Given the description of an element on the screen output the (x, y) to click on. 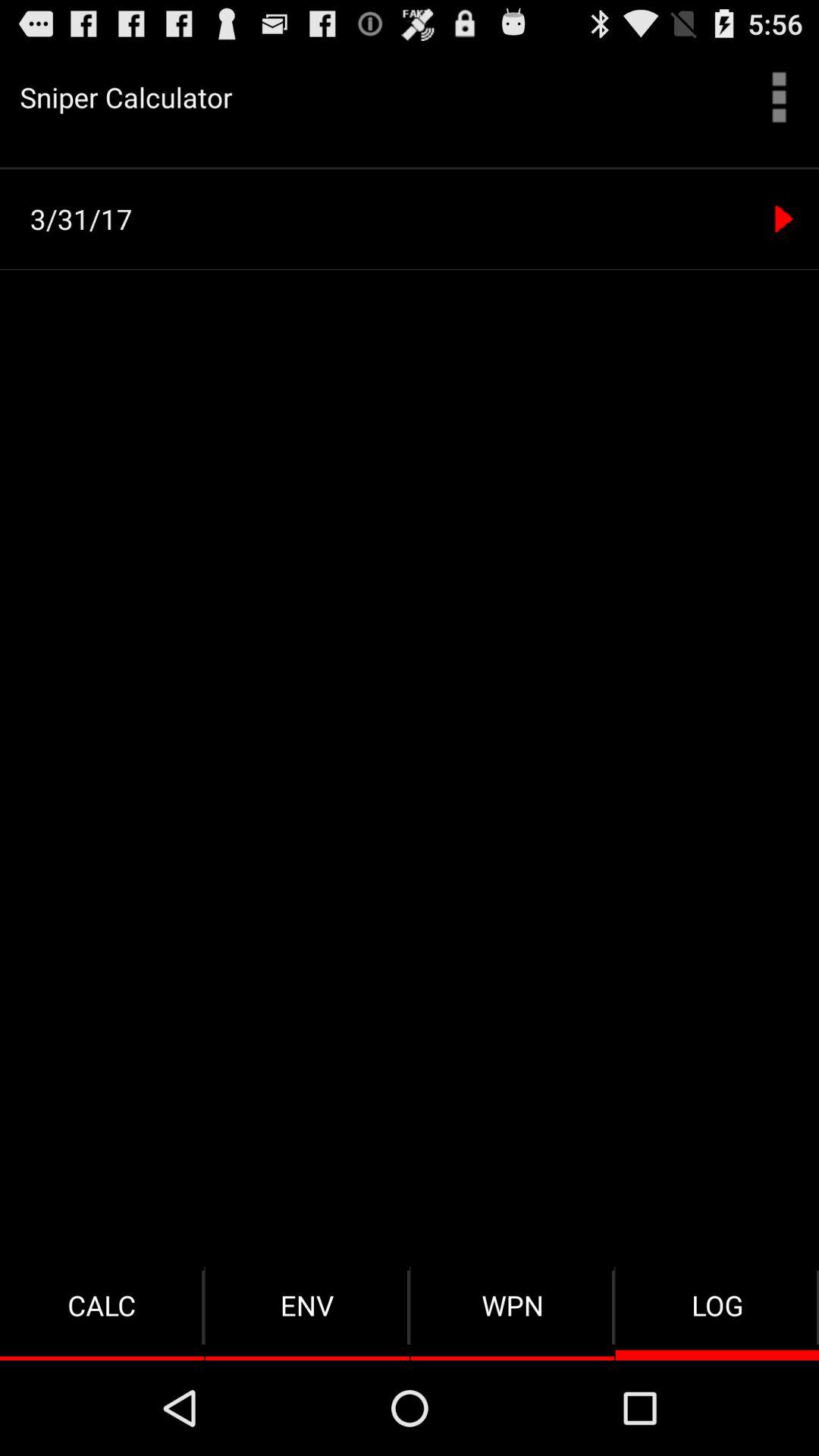
turn on the 3/31/17 item (414, 219)
